Given the description of an element on the screen output the (x, y) to click on. 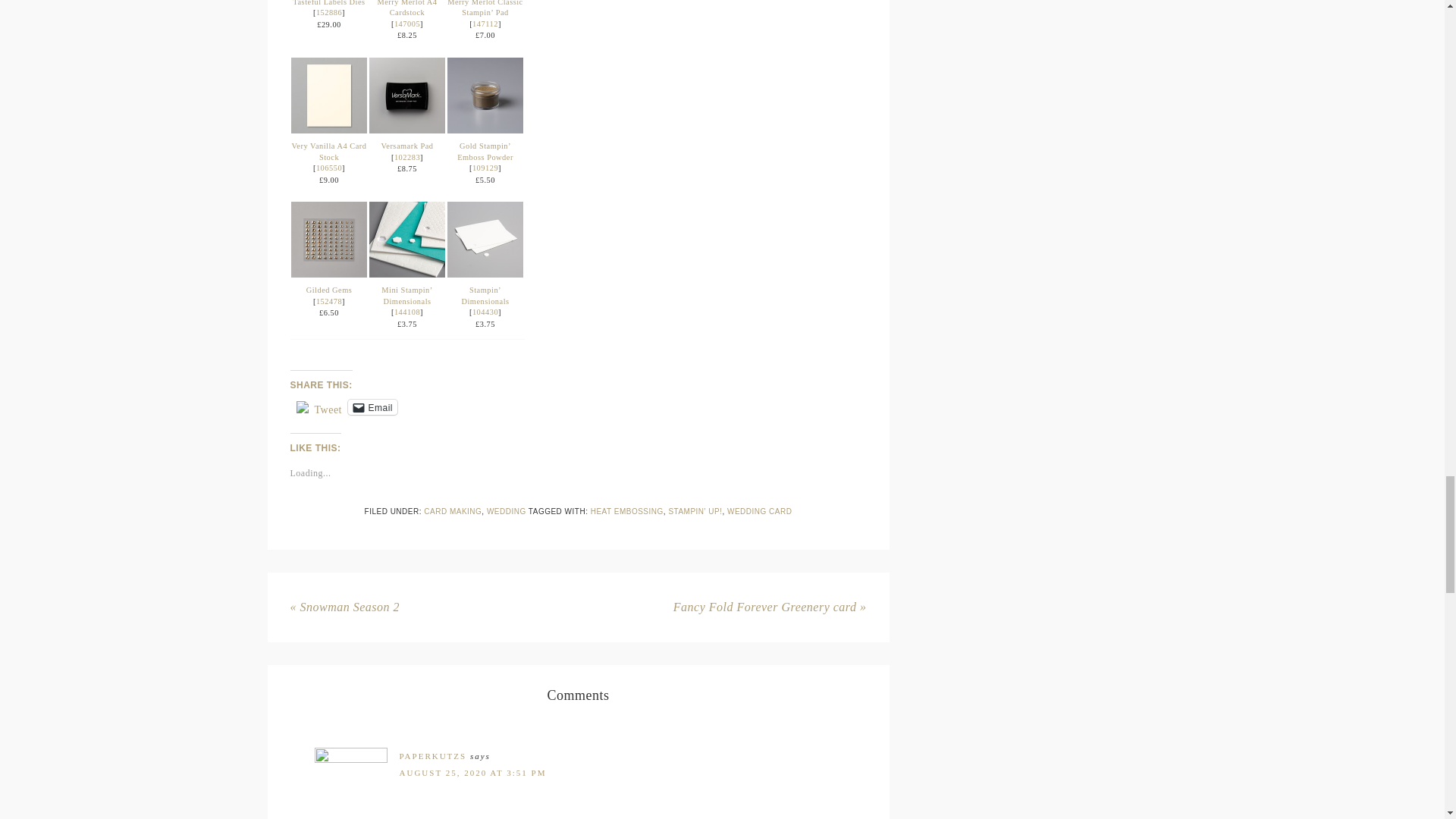
147005 (407, 23)
Tasteful Labels Dies (328, 2)
Tasteful Labels Dies (328, 12)
Merry Merlot A4 Cardstock (406, 8)
Tasteful Labels Dies (328, 2)
Versamark Pad (406, 145)
Very Vanilla A4 Card Stock (328, 151)
147112 (484, 23)
106550 (328, 167)
102283 (407, 157)
152886 (328, 12)
